Given the description of an element on the screen output the (x, y) to click on. 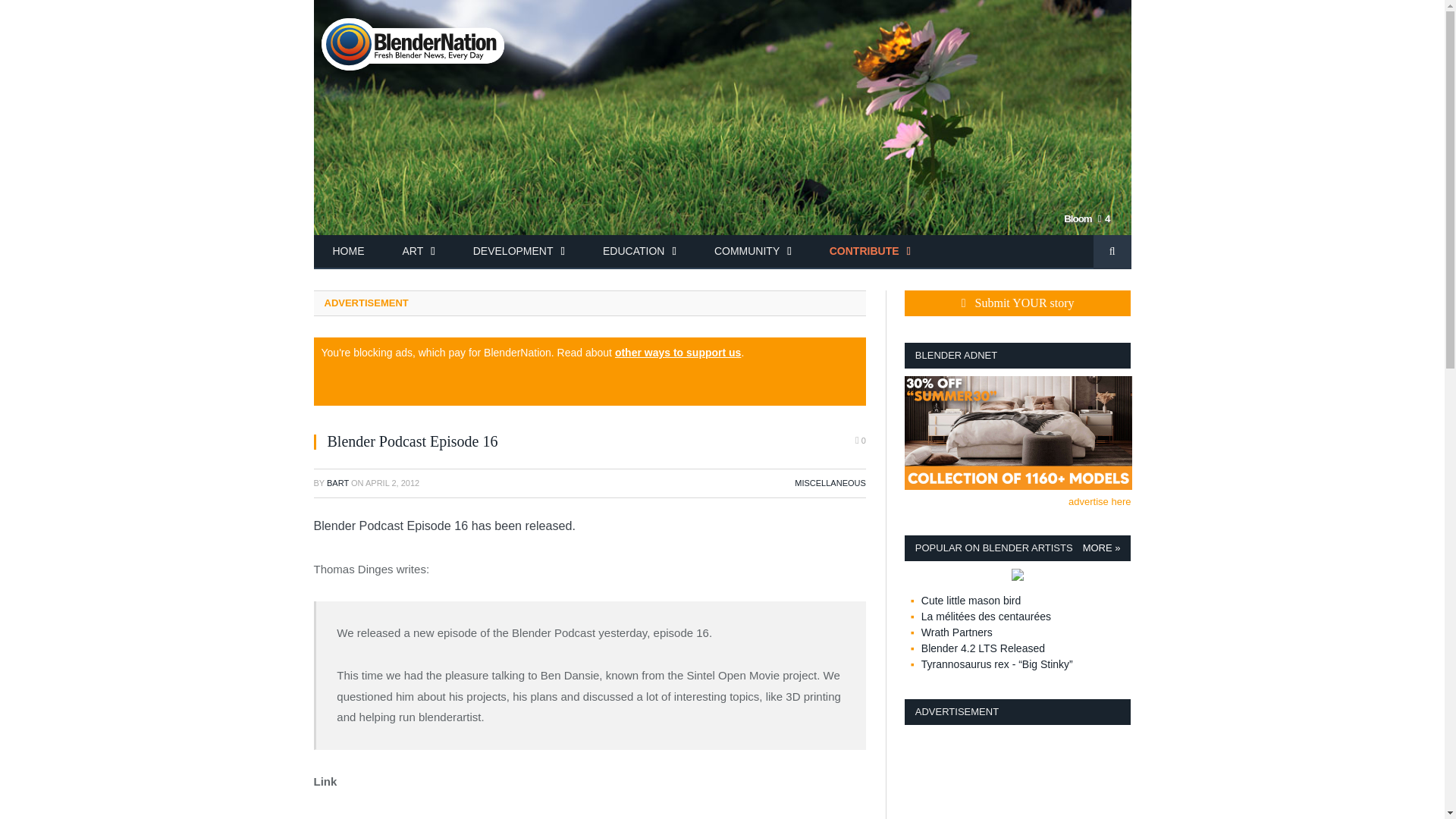
DEVELOPMENT (518, 252)
MISCELLANEOUS (830, 482)
EDUCATION (639, 252)
BART (337, 482)
Blender Podcast Episode 16 (417, 818)
0 (861, 440)
HOME (349, 252)
other ways to support us (677, 352)
Bloom     4 (722, 226)
CONTRIBUTE (870, 252)
ART (419, 252)
Posts by Bart (337, 482)
Search (1112, 252)
2012-04-02 (392, 482)
COMMUNITY (752, 252)
